Given the description of an element on the screen output the (x, y) to click on. 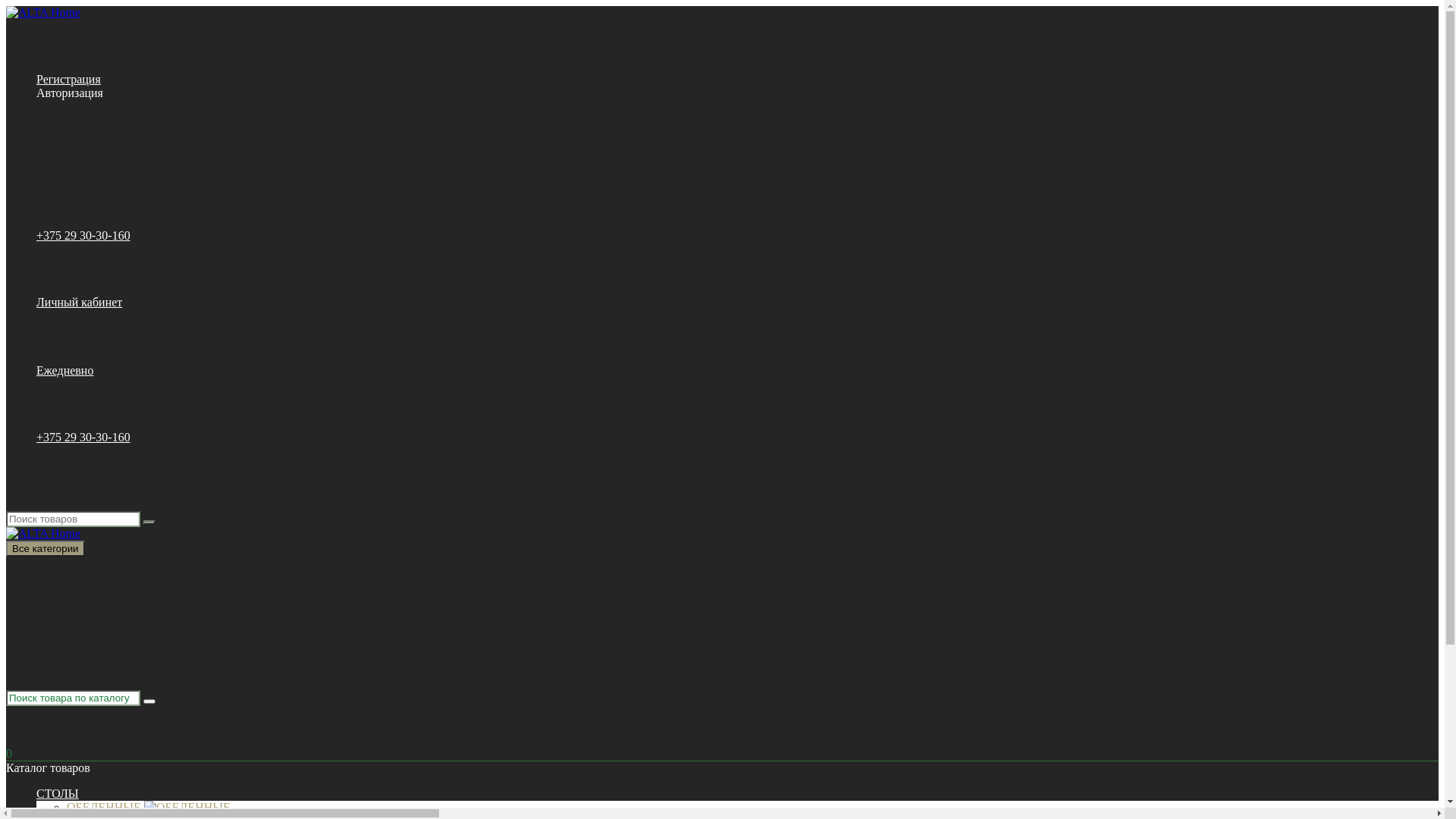
ALTA Home Element type: hover (43, 12)
0 Element type: text (737, 423)
+375 29 30-30-160 Element type: text (83, 436)
0 Element type: text (722, 753)
ALTA Home Element type: hover (43, 533)
+375 29 30-30-160 Element type: text (113, 450)
+375 29 30-30-160 Element type: text (83, 235)
